Given the description of an element on the screen output the (x, y) to click on. 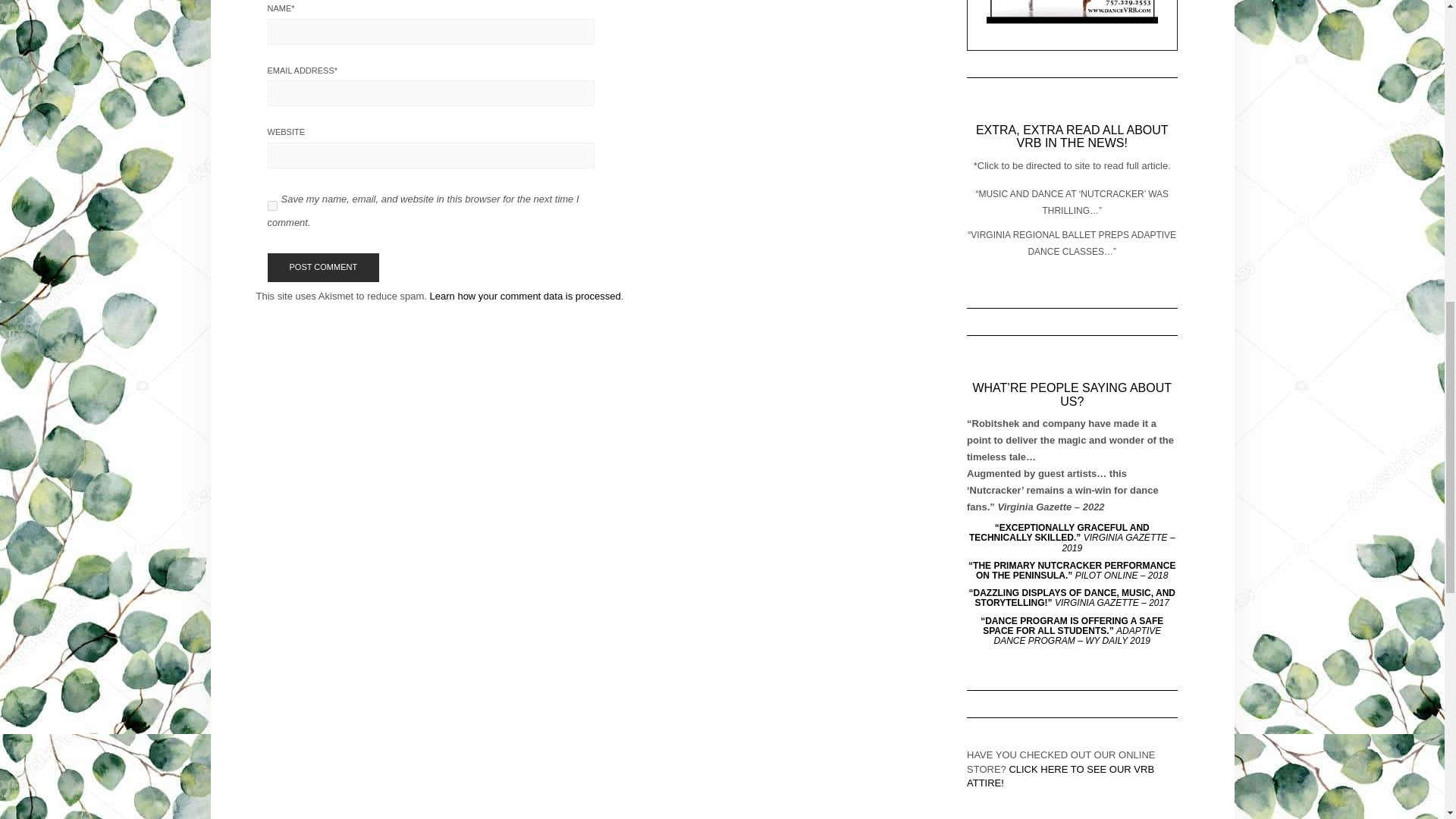
Post Comment (322, 267)
Learn how your comment data is processed (525, 296)
yes (271, 205)
Post Comment (322, 267)
